Given the description of an element on the screen output the (x, y) to click on. 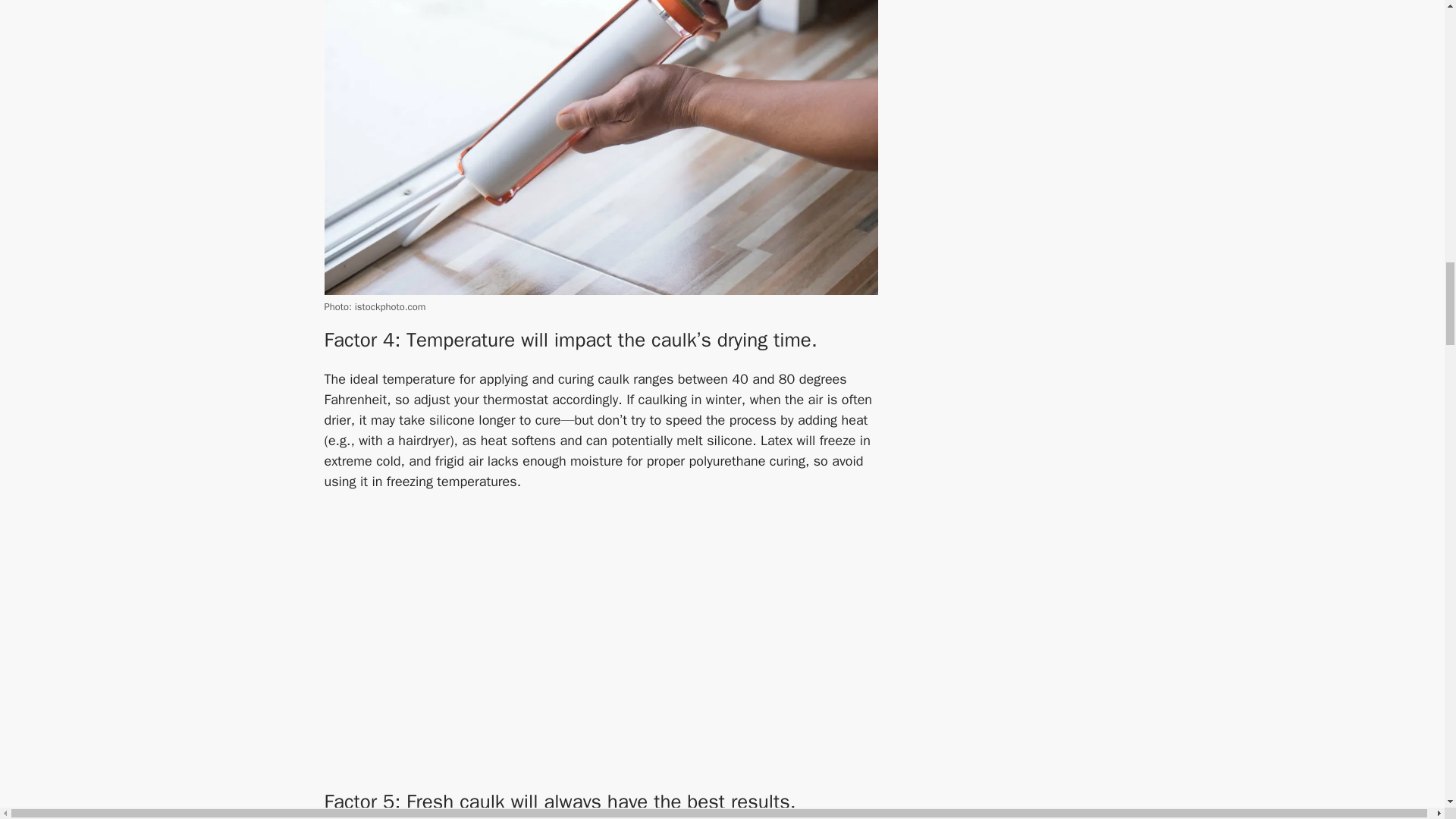
3rd party ad content (600, 652)
3rd party ad content (1154, 724)
3rd party ad content (1154, 94)
